Given the description of an element on the screen output the (x, y) to click on. 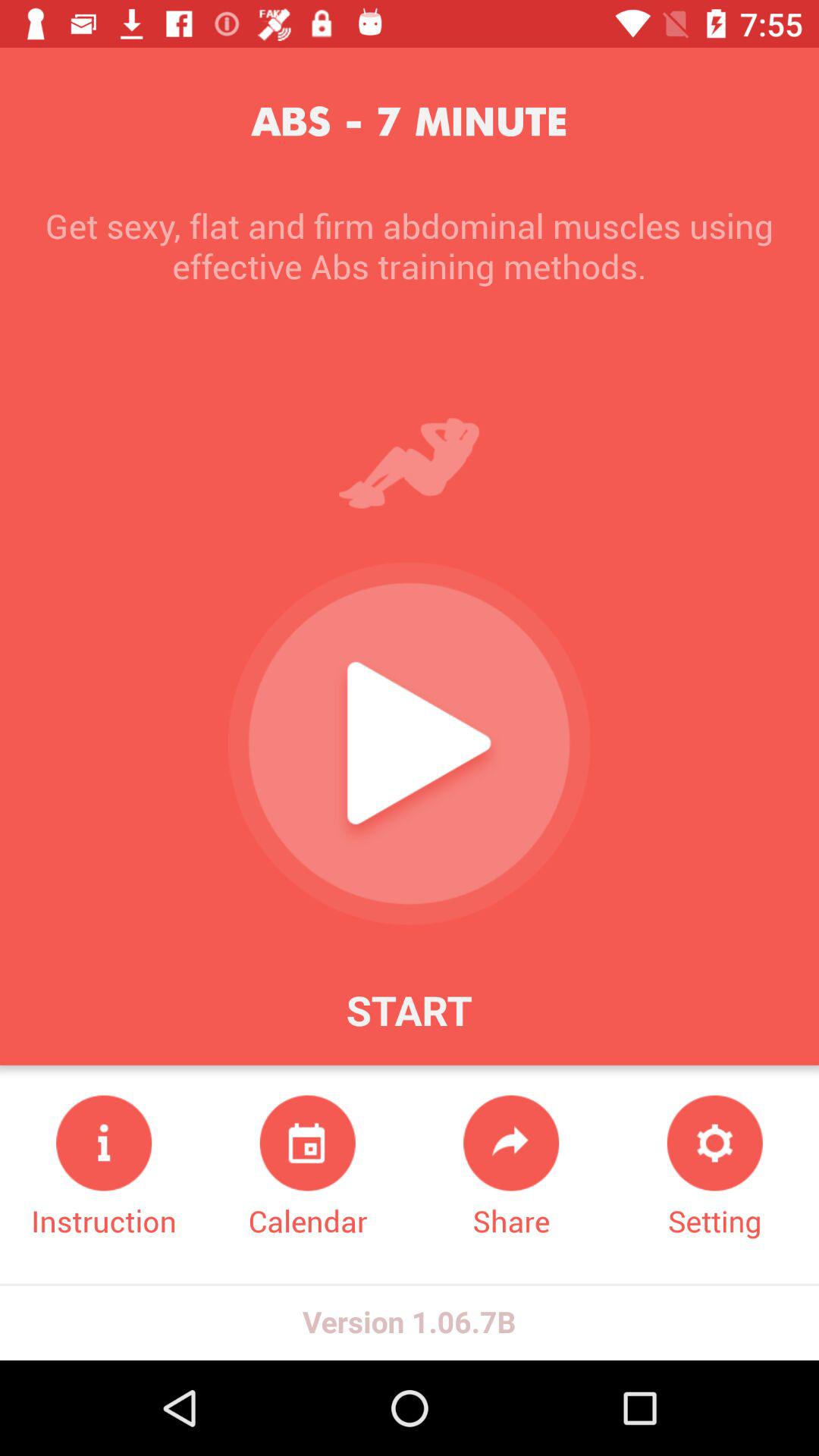
swipe until instruction item (103, 1168)
